Given the description of an element on the screen output the (x, y) to click on. 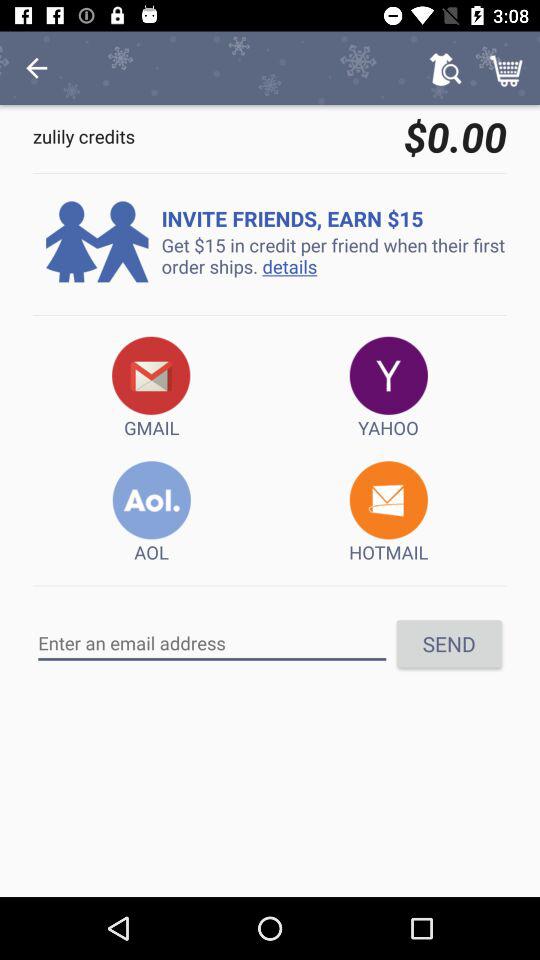
enter email address (212, 643)
